Given the description of an element on the screen output the (x, y) to click on. 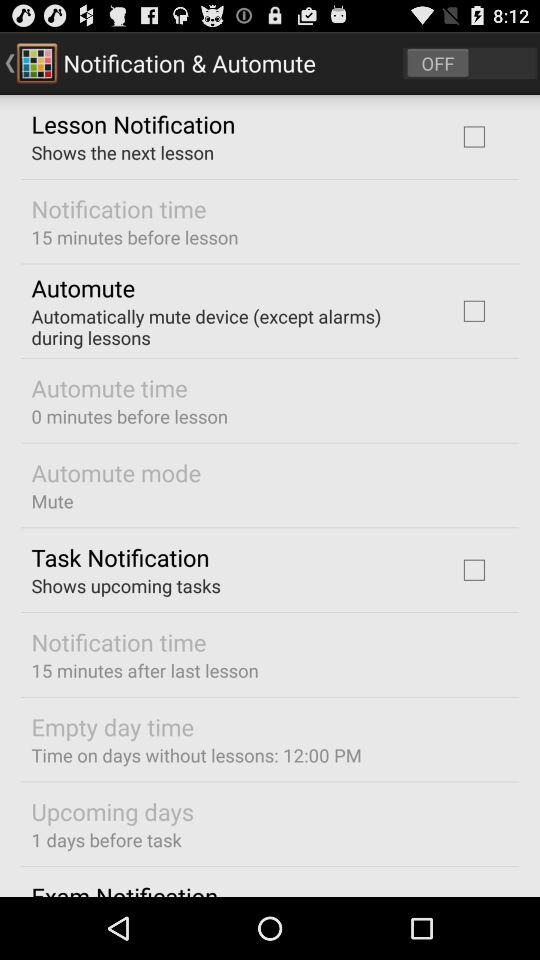
jump until the lesson notification (133, 123)
